Given the description of an element on the screen output the (x, y) to click on. 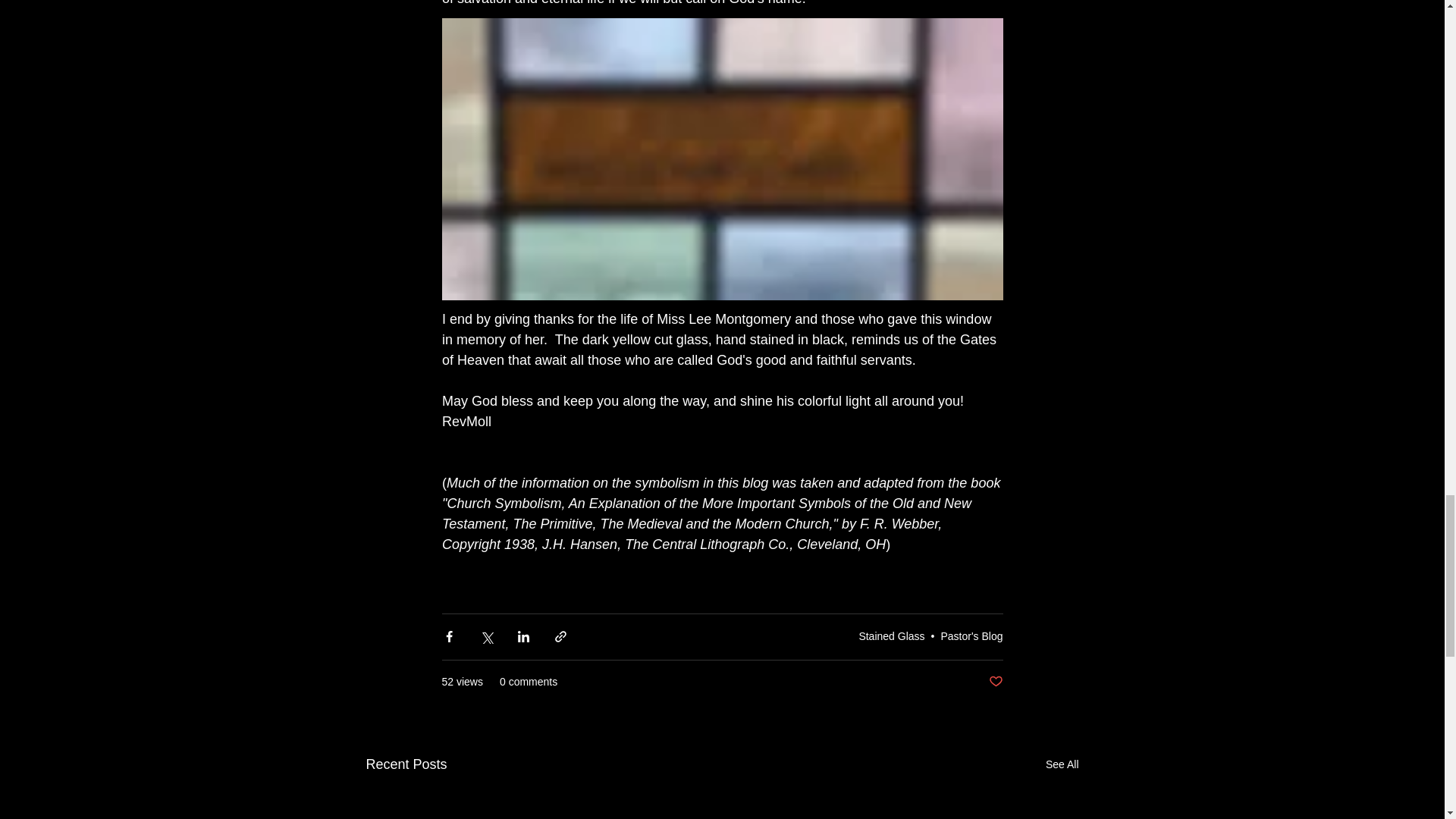
Pastor's Blog (971, 635)
Post not marked as liked (995, 681)
Stained Glass (891, 635)
See All (1061, 764)
